Given the description of an element on the screen output the (x, y) to click on. 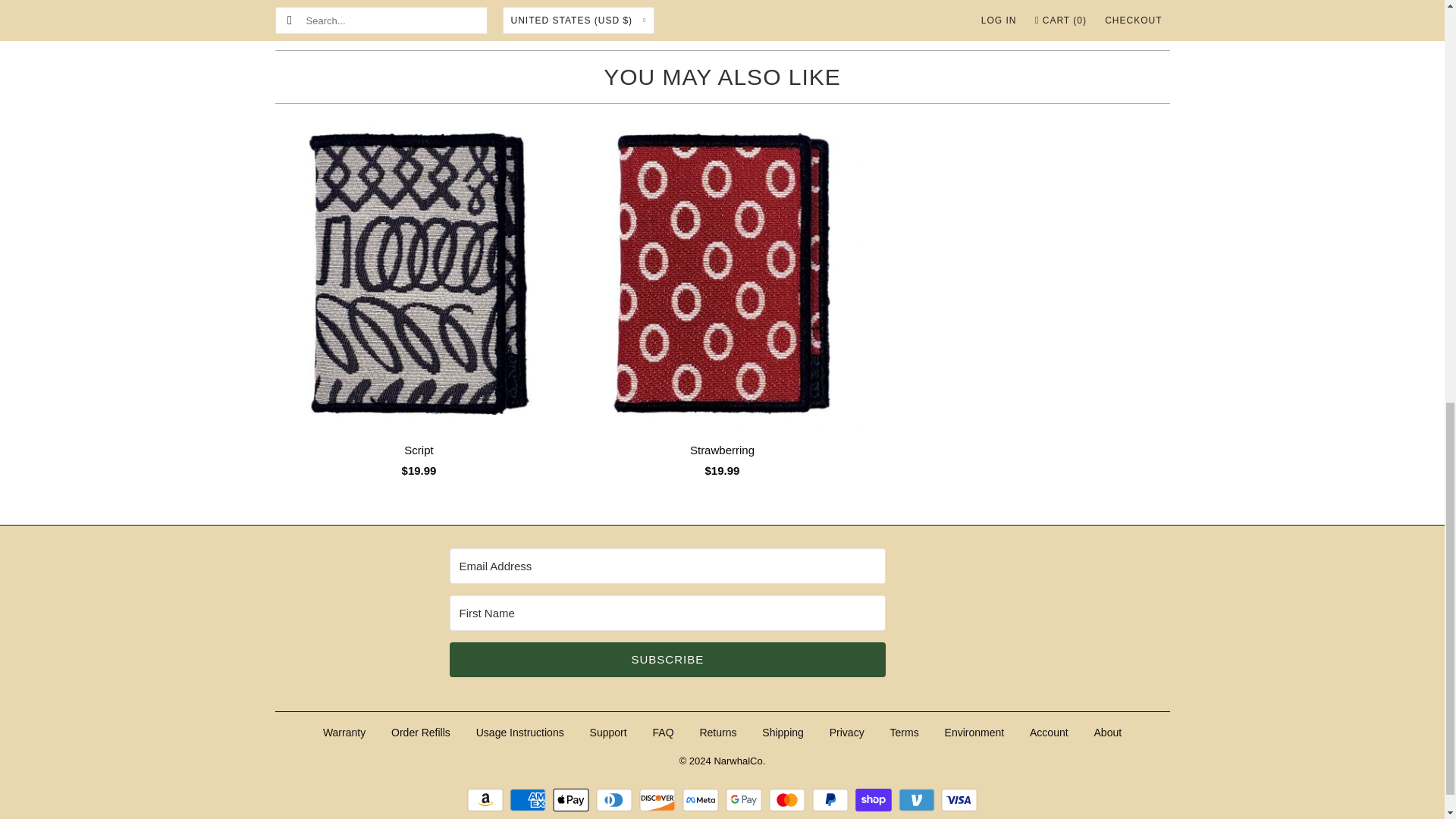
Diners Club (615, 799)
Amazon (486, 799)
American Express (529, 799)
PayPal (831, 799)
Visa (958, 799)
Meta Pay (702, 799)
Mastercard (788, 799)
Google Pay (745, 799)
Venmo (917, 799)
Bow Tie Brute - Tie Slim Wallet :: Narwhal Company (552, 13)
Shop Pay (875, 799)
Apple Pay (572, 799)
Discover (659, 799)
